Given the description of an element on the screen output the (x, y) to click on. 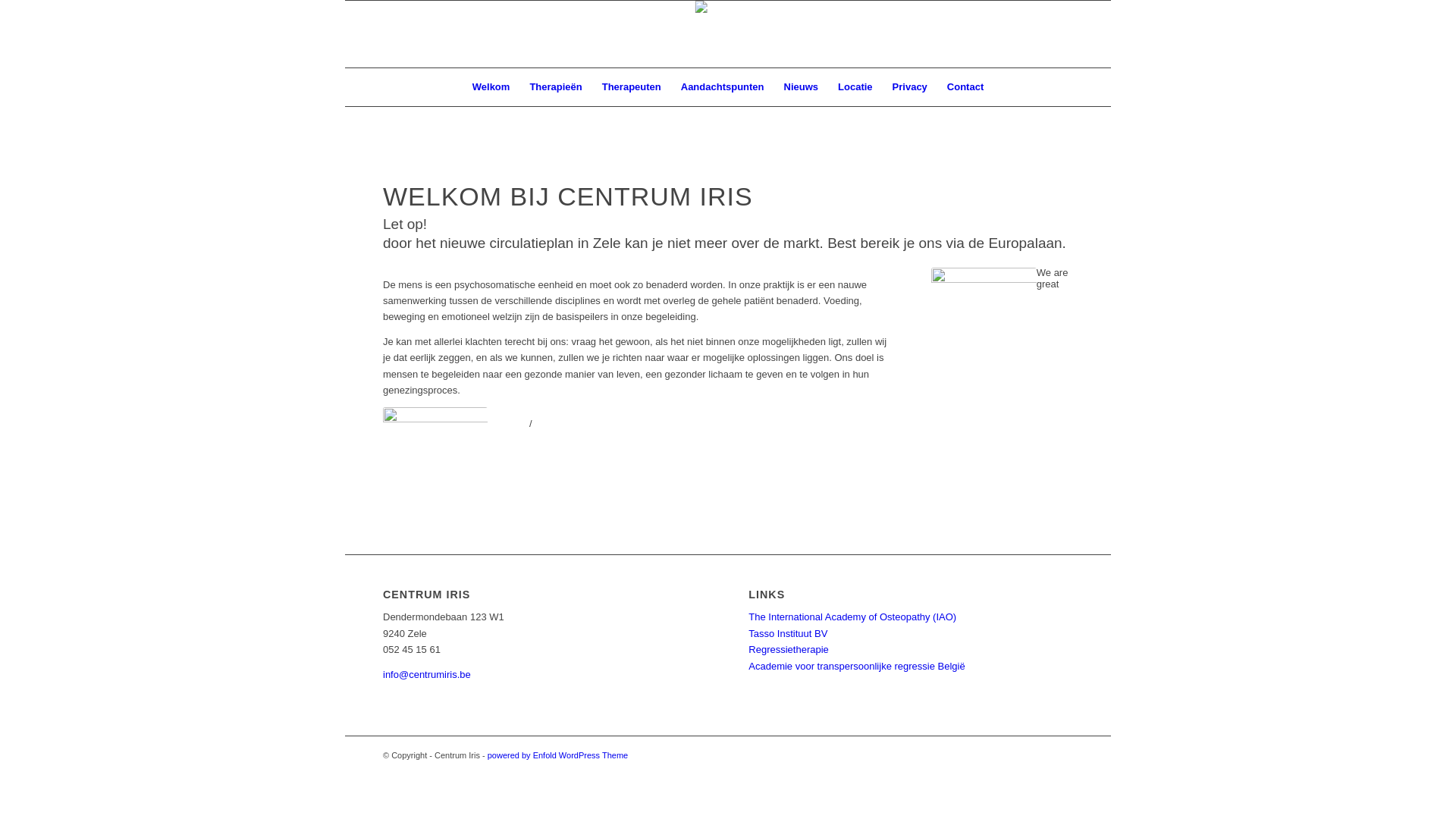
info@centrumiris.be Element type: text (426, 674)
powered by Enfold WordPress Theme Element type: text (557, 754)
Regressietherapie Element type: text (788, 649)
Tasso Instituut BV Element type: text (787, 633)
Therapeuten Element type: text (631, 87)
Nieuws Element type: text (801, 87)
The International Academy of Osteopathy (IAO) Element type: text (852, 616)
Contact Element type: text (965, 87)
Vitruvian-Icon-Gray Element type: hover (434, 461)
Aandachtspunten Element type: text (722, 87)
Privacy Element type: text (909, 87)
Welkom Element type: text (491, 87)
Locatie Element type: text (855, 87)
bloem Element type: hover (983, 319)
